Given the description of an element on the screen output the (x, y) to click on. 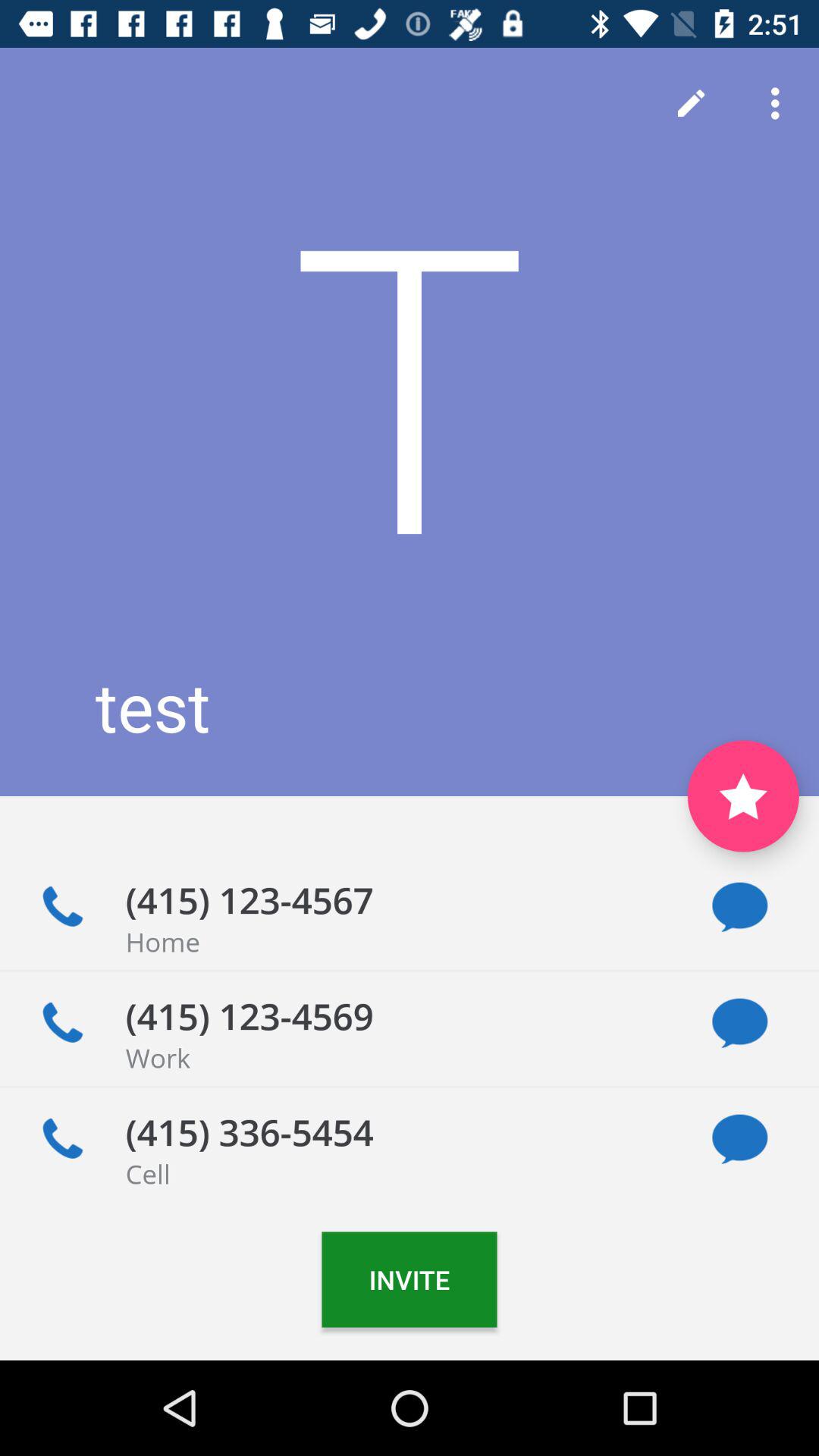
to call (62, 1139)
